Given the description of an element on the screen output the (x, y) to click on. 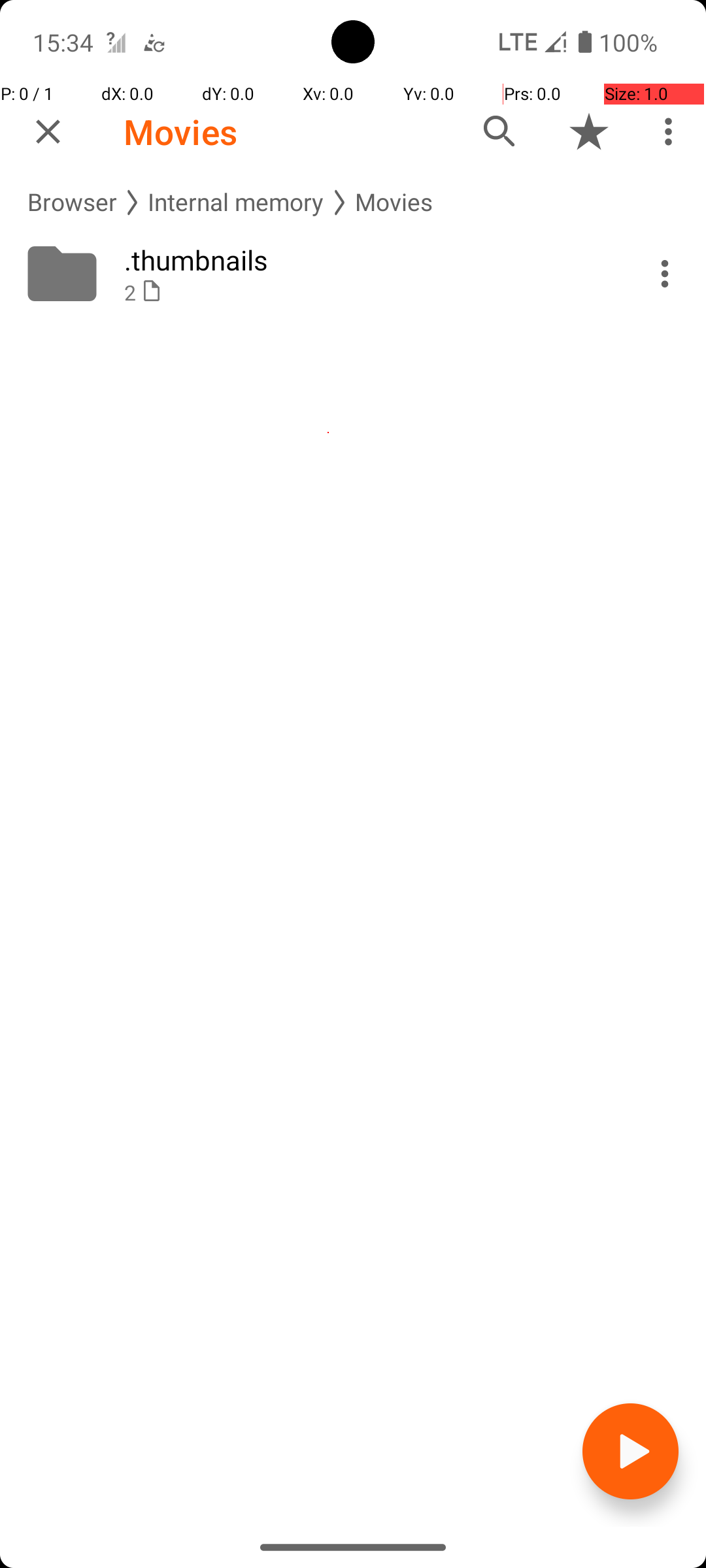
Browser Element type: android.widget.TextView (72, 202)
Folder: .thumbnails, 2 media files Element type: android.view.ViewGroup (353, 273)
.thumbnails Element type: android.widget.TextView (366, 259)
2 *§* Element type: android.widget.TextView (366, 292)
